Given the description of an element on the screen output the (x, y) to click on. 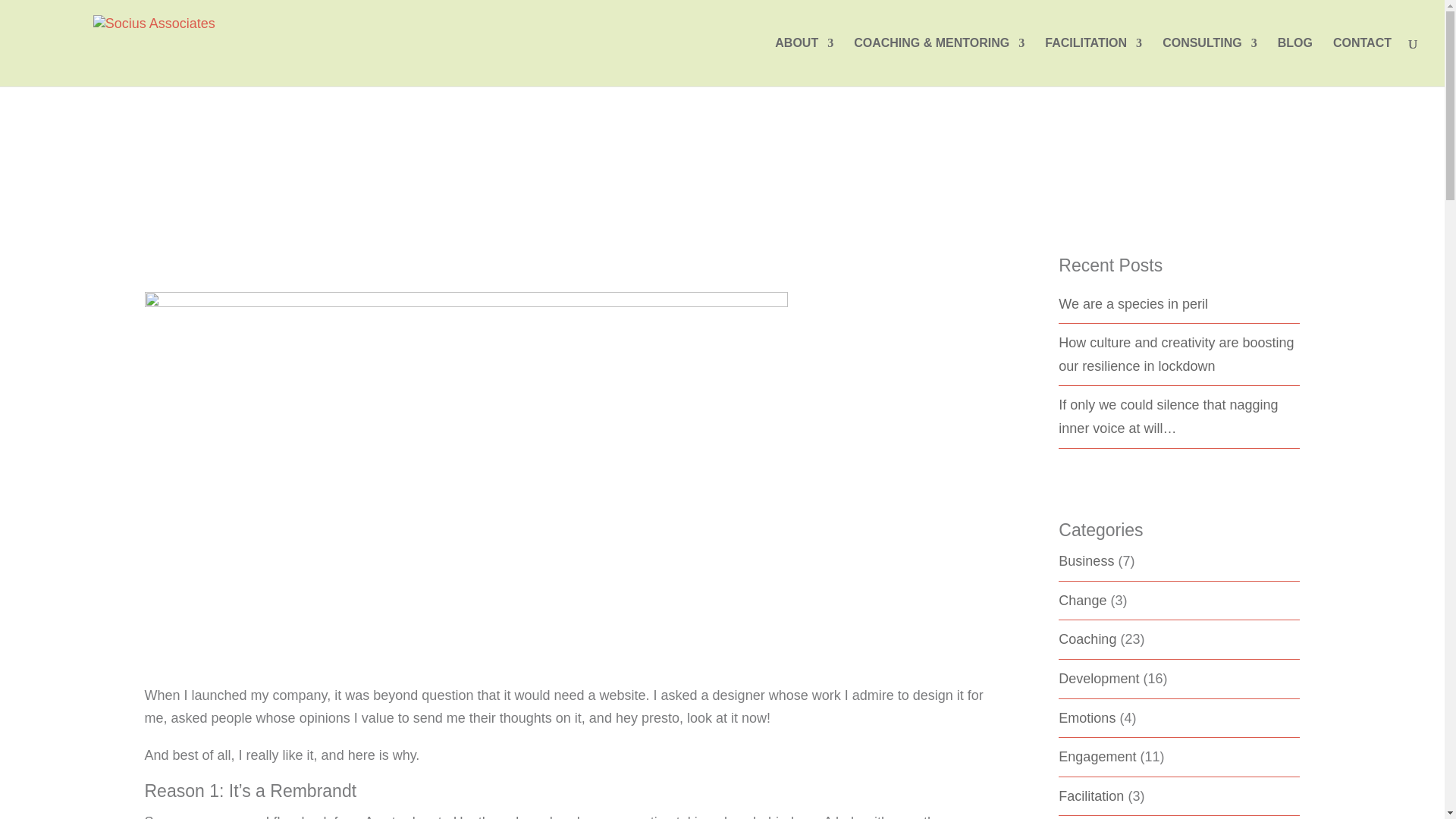
Facilitation (1091, 795)
Development (1098, 678)
CONTACT (1362, 61)
CONSULTING (1209, 61)
ABOUT (803, 61)
Business (1085, 560)
Engagement (1096, 756)
Change (1082, 600)
FACILITATION (1093, 61)
We are a species in peril (1179, 304)
Emotions (1086, 717)
Coaching (1087, 639)
BLOG (1295, 61)
